Given the description of an element on the screen output the (x, y) to click on. 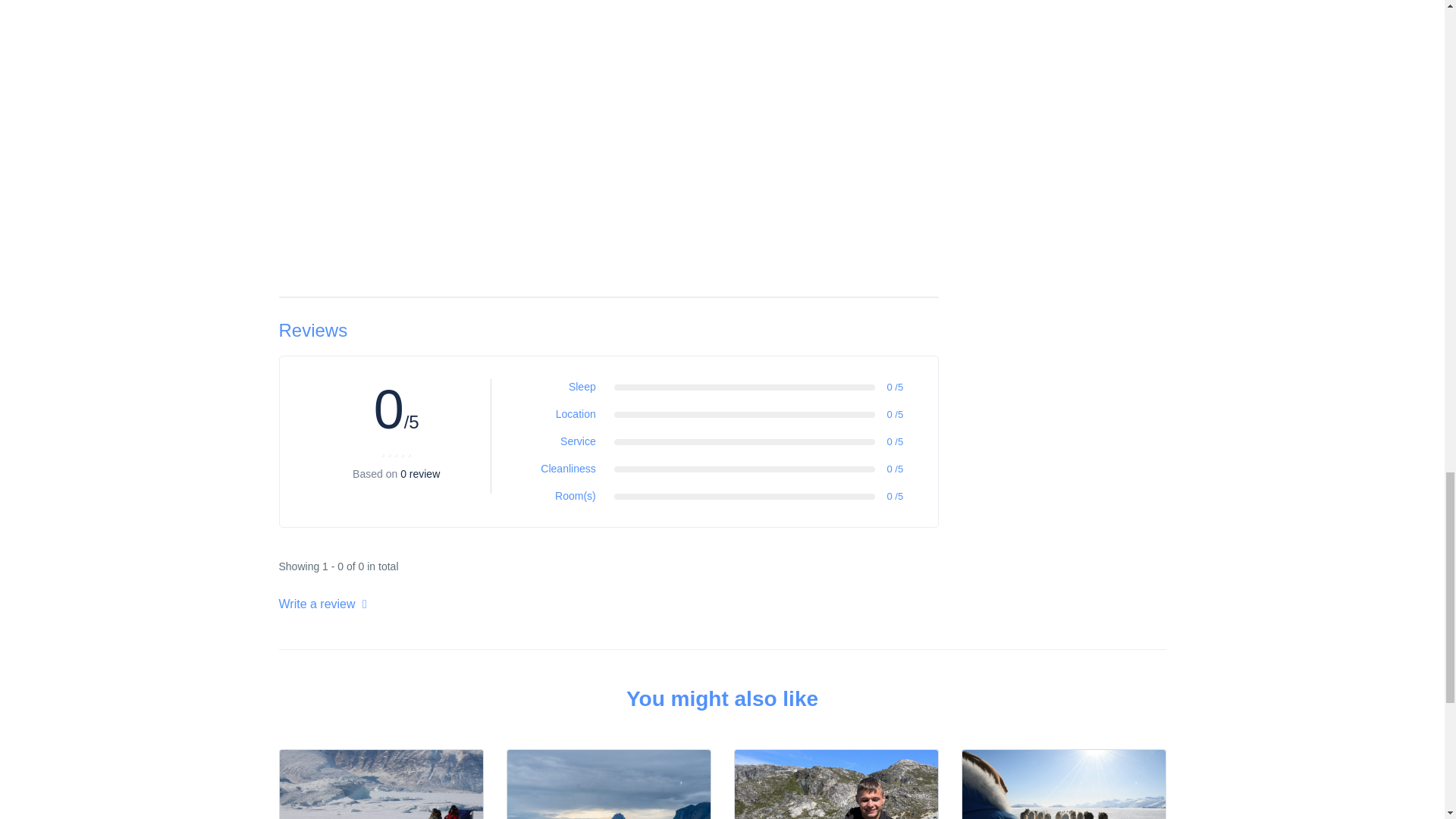
Add to wishlist (462, 774)
Add to wishlist (1145, 774)
Add to wishlist (690, 774)
Add to wishlist (918, 774)
